Given the description of an element on the screen output the (x, y) to click on. 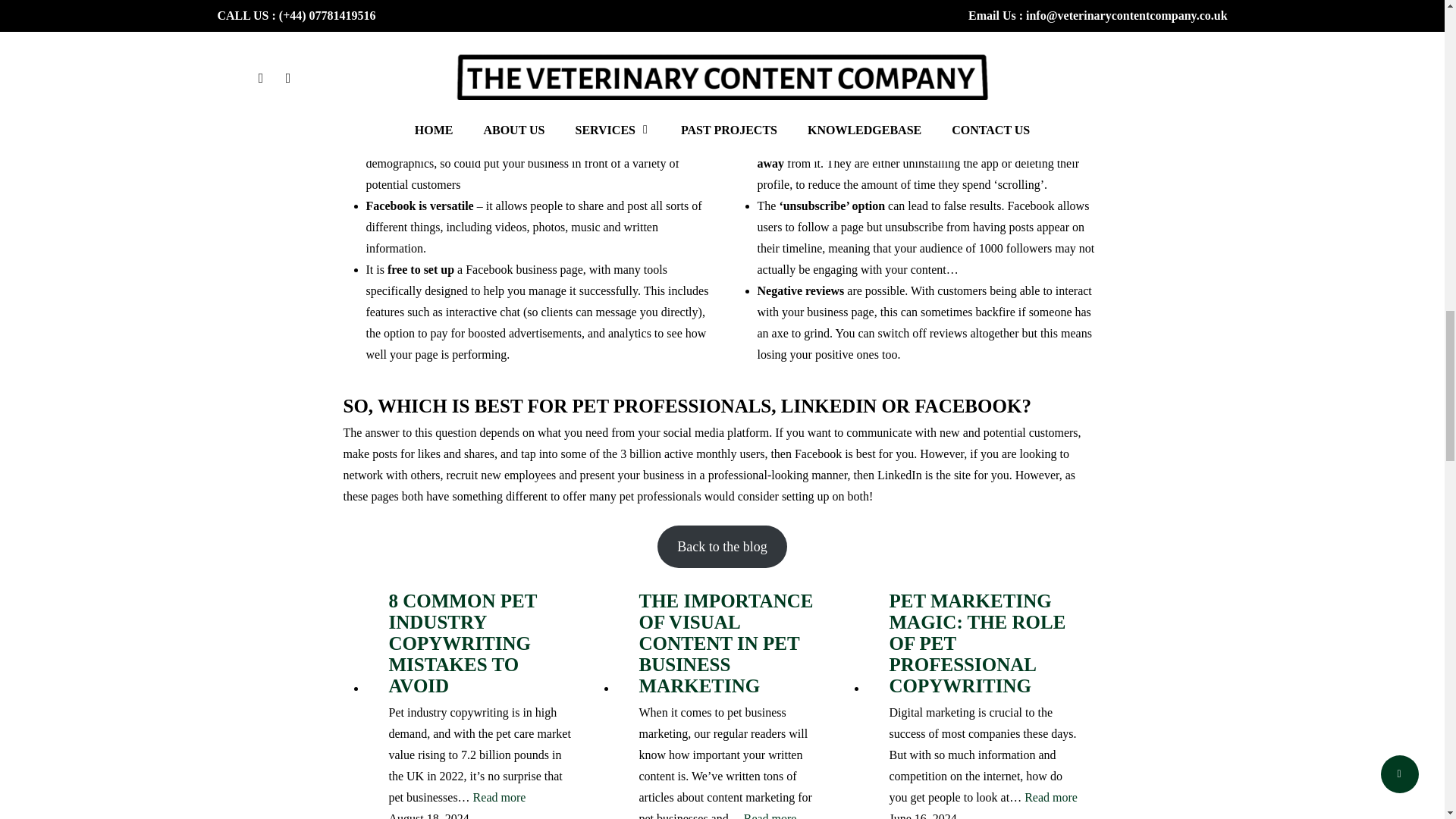
Back to the blog (722, 546)
Read more (770, 813)
Read more (1051, 797)
Read more (499, 797)
8 COMMON PET INDUSTRY COPYWRITING MISTAKES TO AVOID (483, 643)
THE IMPORTANCE OF VISUAL CONTENT IN PET BUSINESS MARKETING (733, 643)
